Given the description of an element on the screen output the (x, y) to click on. 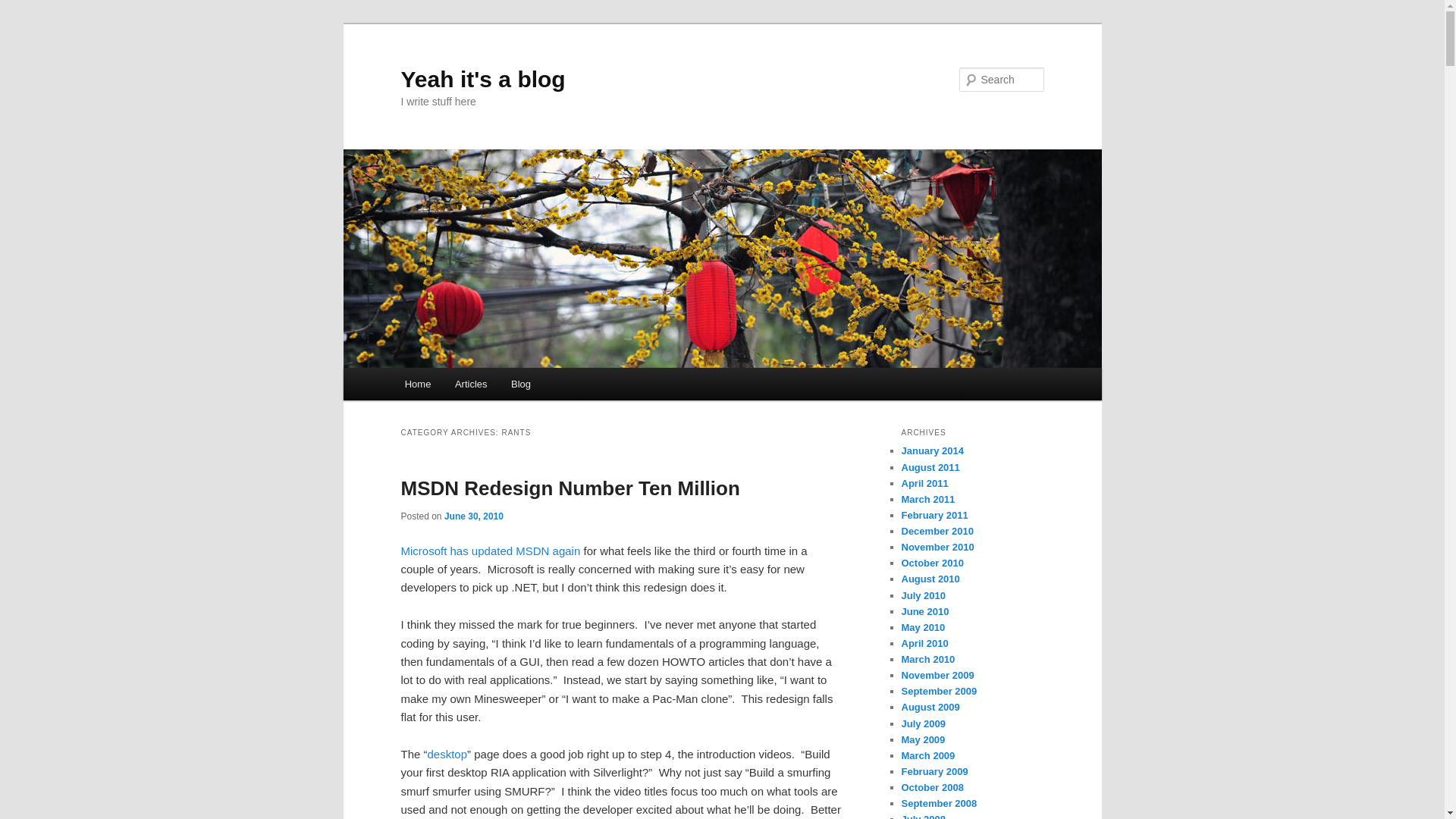
Microsoft has updated MSDN again (489, 550)
Yeah it's a blog (482, 78)
Home (417, 383)
Search (24, 8)
Blog (521, 383)
Pete Brown's announcement of the MSDN redesign (489, 550)
June 30, 2010 (473, 516)
desktop (447, 753)
9:07 am (473, 516)
